Given the description of an element on the screen output the (x, y) to click on. 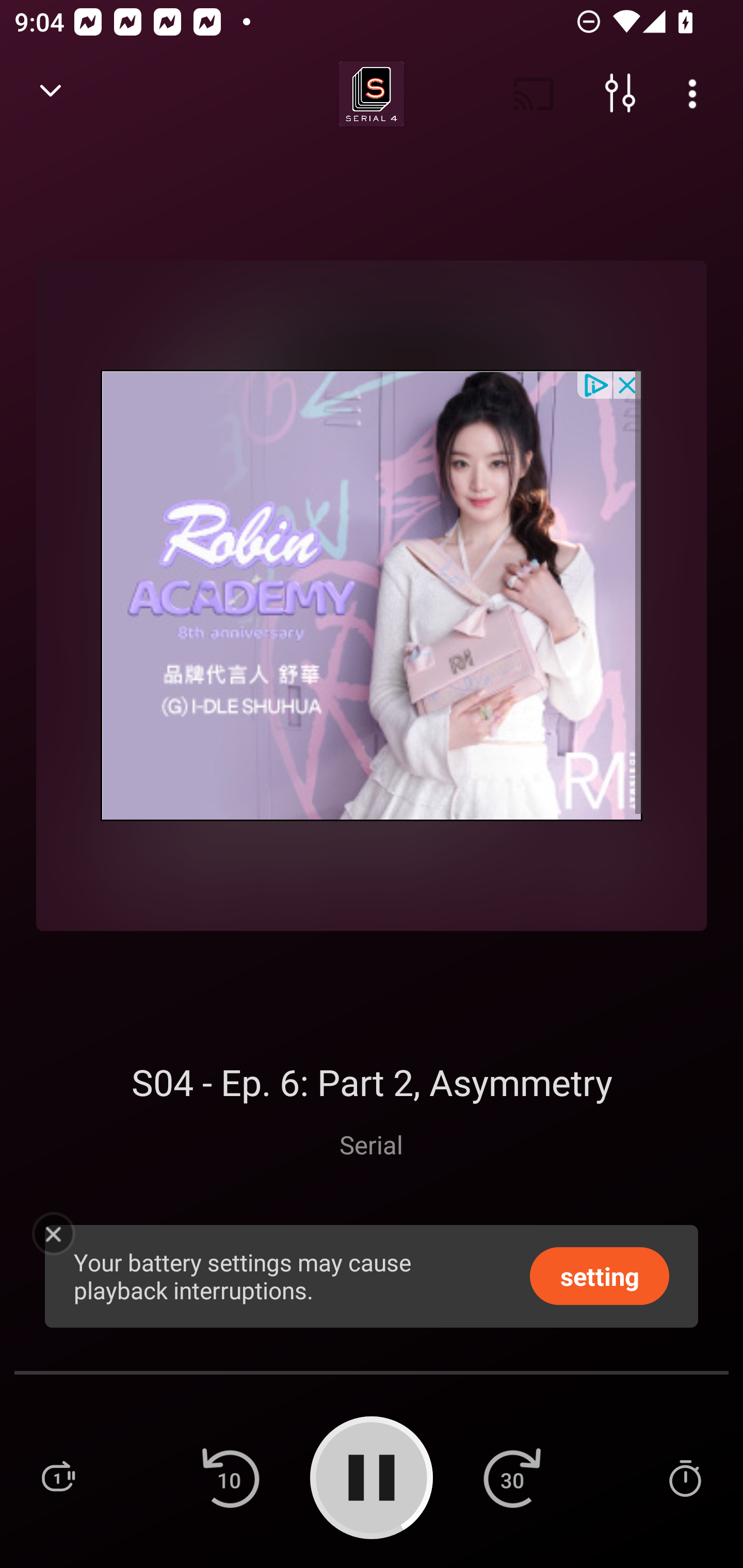
Cast. Disconnected (533, 93)
 Back (50, 94)
S04 - Ep. 6: Part 2, Asymmetry (371, 1081)
Serial (371, 1144)
setting (599, 1275)
 Playlist (57, 1477)
Sleep Timer  (684, 1477)
